Given the description of an element on the screen output the (x, y) to click on. 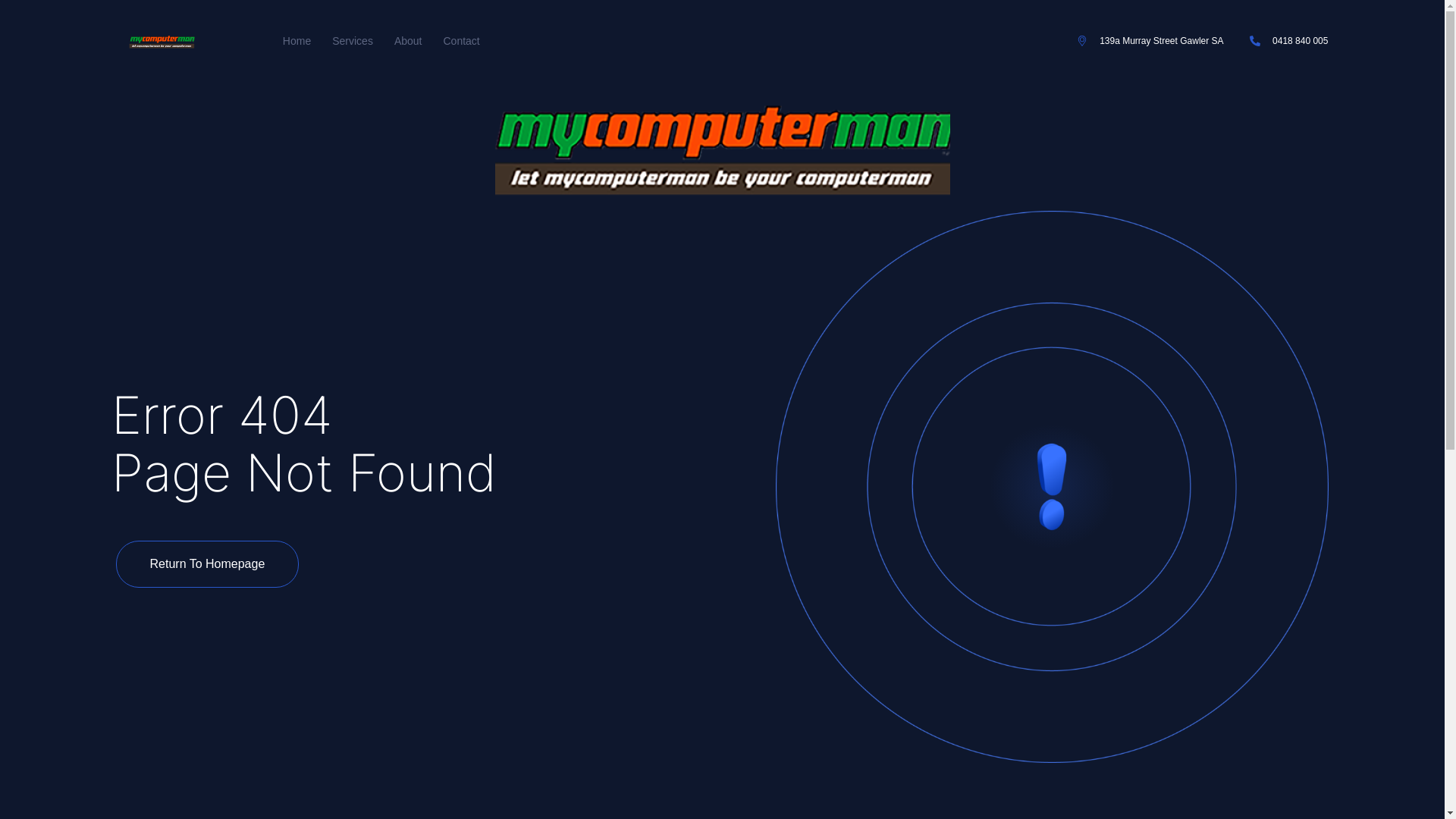
Contact Element type: text (460, 40)
Services Element type: text (352, 40)
About Element type: text (408, 40)
MCM_v3 Element type: hover (721, 146)
Return To Homepage Element type: text (206, 563)
Home Element type: text (296, 40)
